Given the description of an element on the screen output the (x, y) to click on. 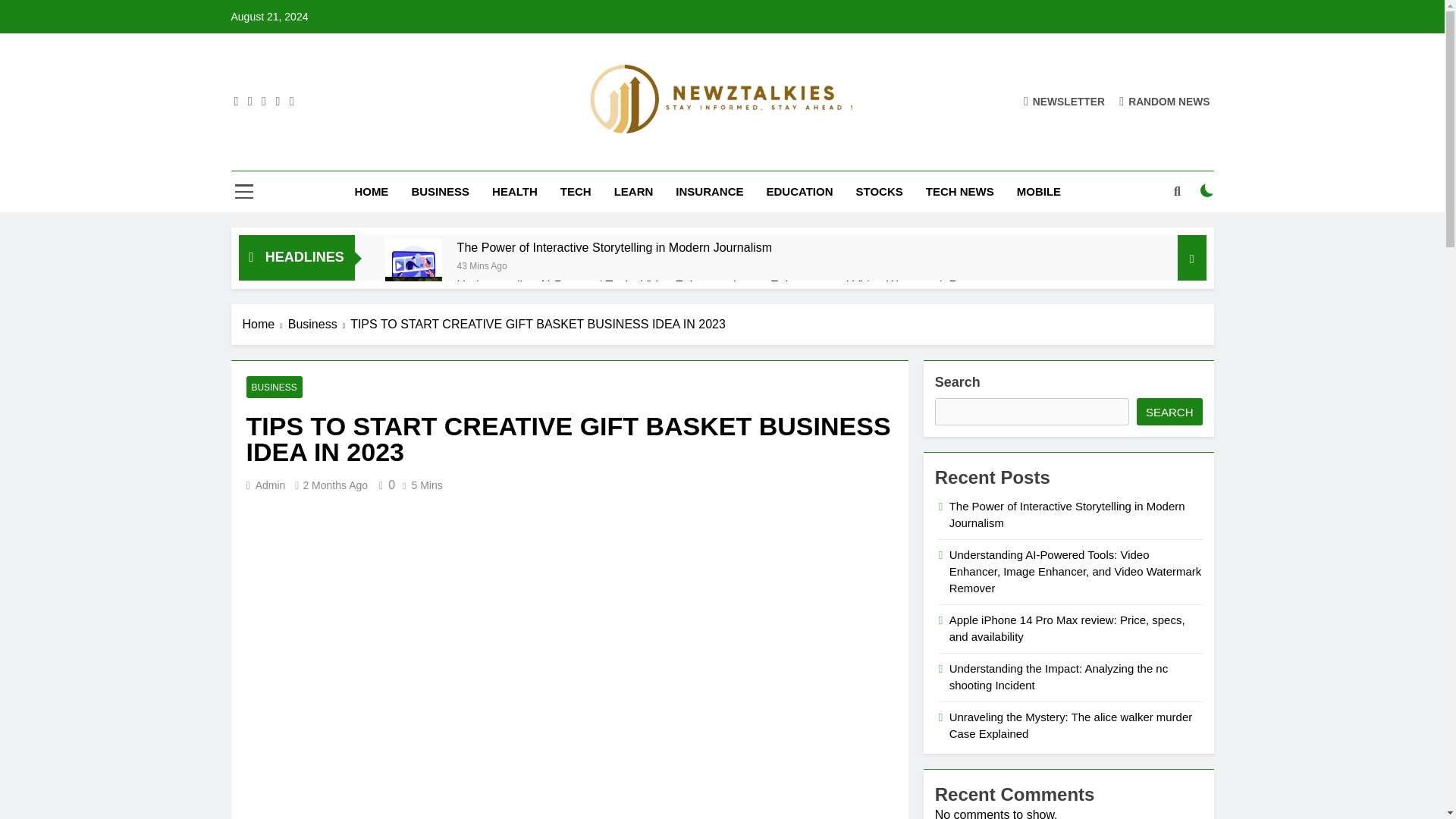
INSURANCE (708, 191)
The Power of Interactive Storytelling in Modern Journalism (413, 267)
The Power of Interactive Storytelling in Modern Journalism (615, 247)
The Power of Interactive Storytelling in Modern Journalism (615, 247)
RANDOM NEWS (1164, 101)
TECH (575, 191)
EDUCATION (799, 191)
Newztalkies.Com (606, 157)
